Given the description of an element on the screen output the (x, y) to click on. 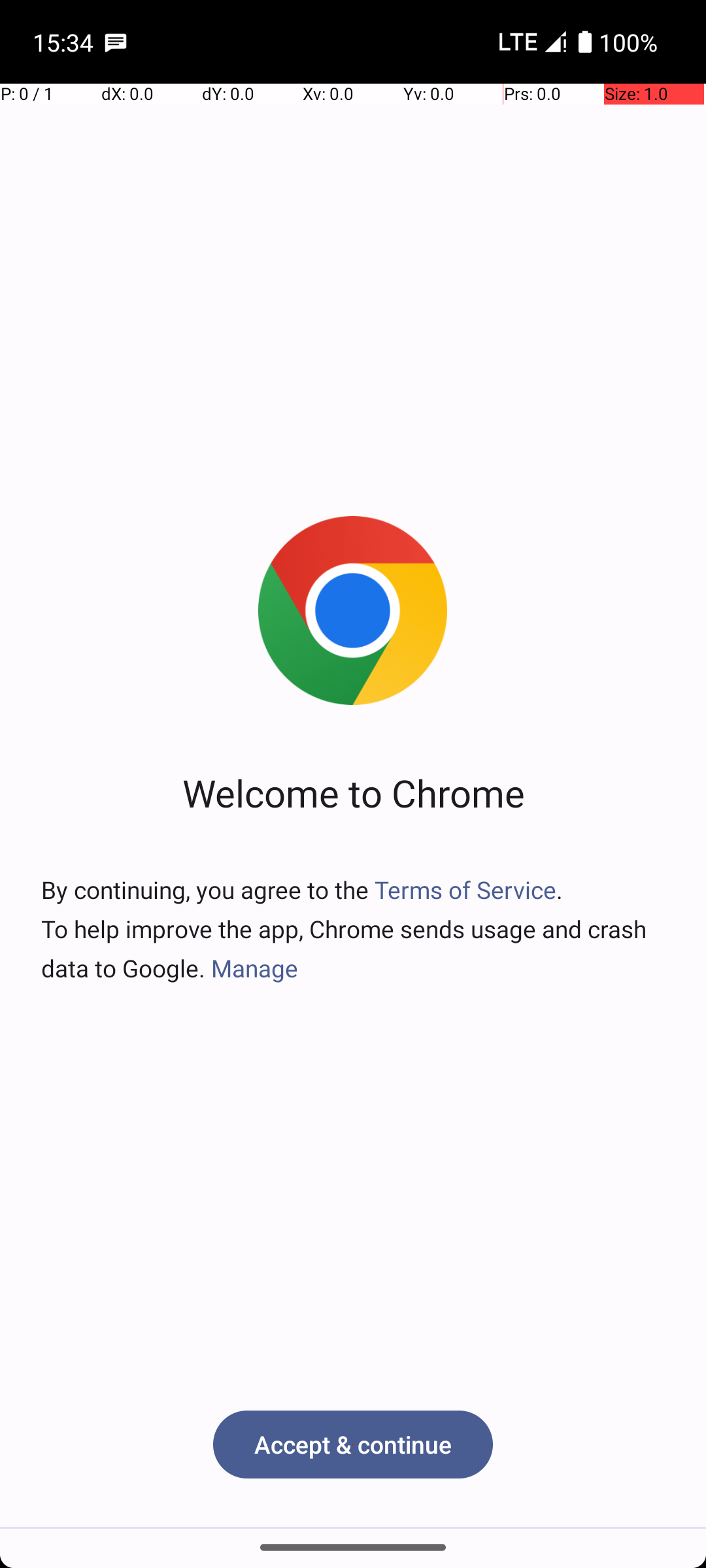
By continuing, you agree to the Terms of Service.
To help improve the app, Chrome sends usage and crash data to Google. Manage Element type: android.widget.TextView (352, 928)
